Given the description of an element on the screen output the (x, y) to click on. 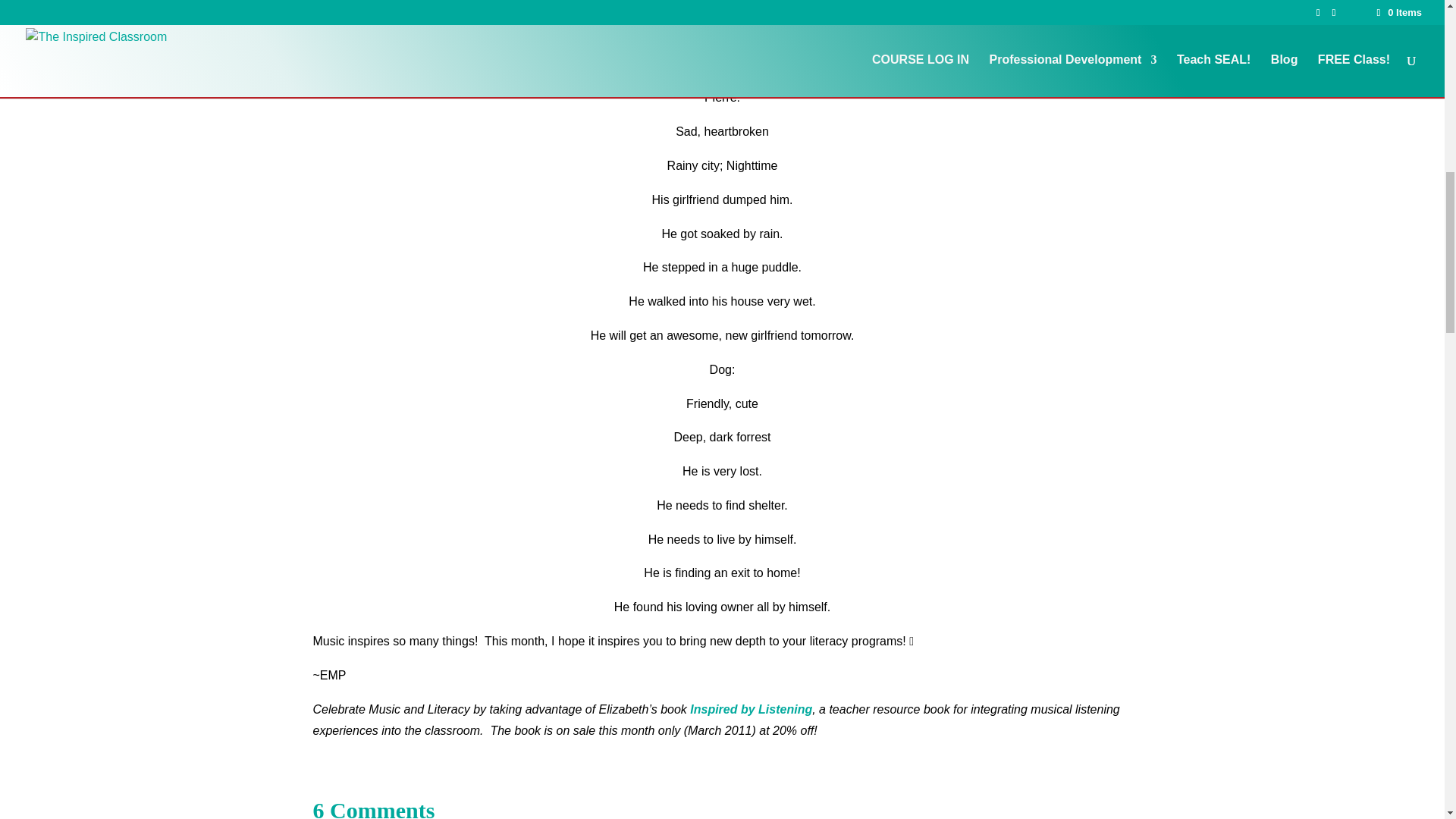
Inspired by Listening (751, 708)
Story Pyramid (780, 42)
